Given the description of an element on the screen output the (x, y) to click on. 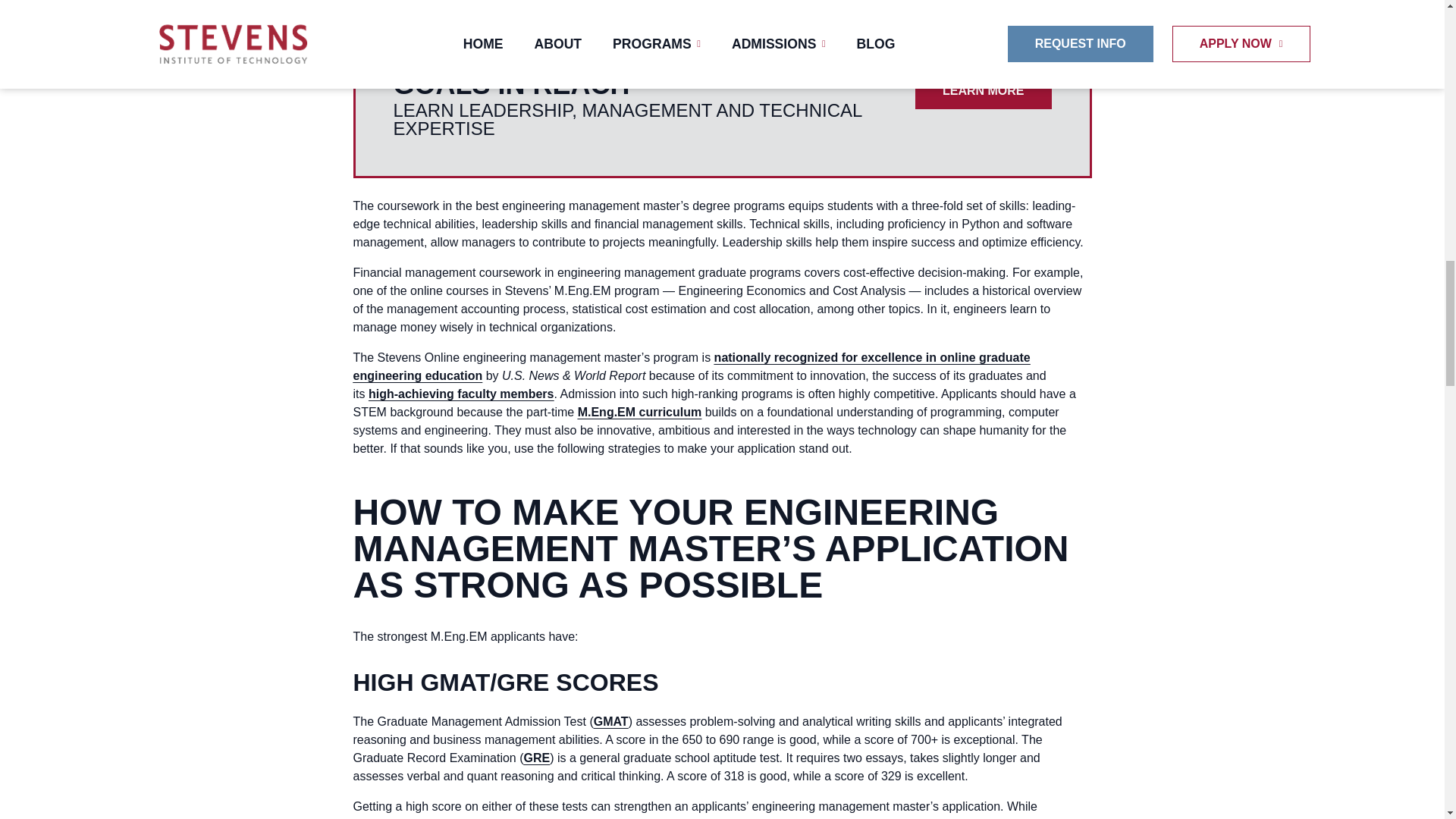
high-achieving faculty members (461, 393)
M.Eng.EM curriculum (639, 411)
